Given the description of an element on the screen output the (x, y) to click on. 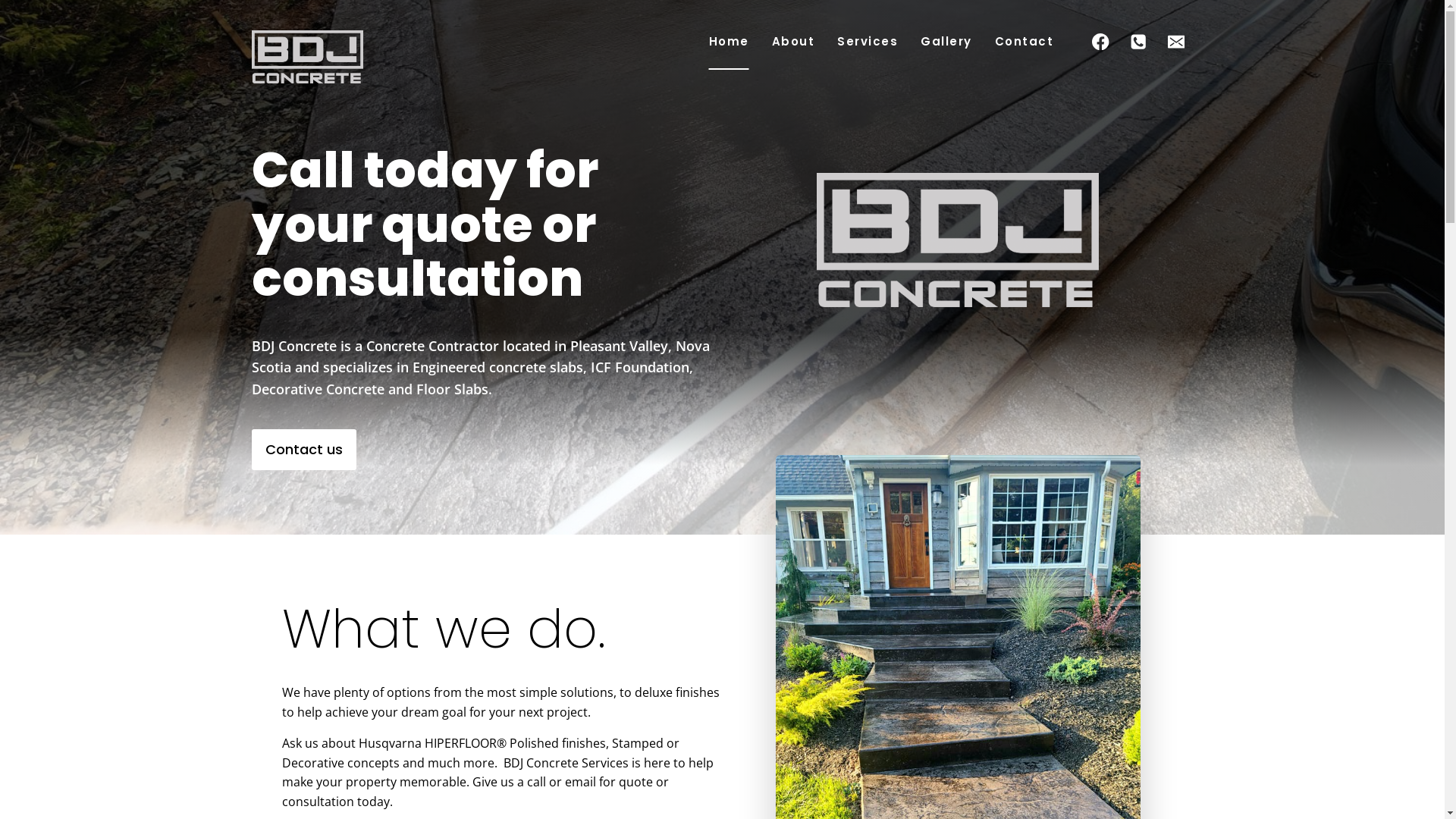
About Element type: text (793, 41)
Gallery Element type: text (946, 41)
Services Element type: text (867, 41)
Contact us Element type: text (303, 449)
Home Element type: text (728, 41)
Contact Element type: text (1024, 41)
